Given the description of an element on the screen output the (x, y) to click on. 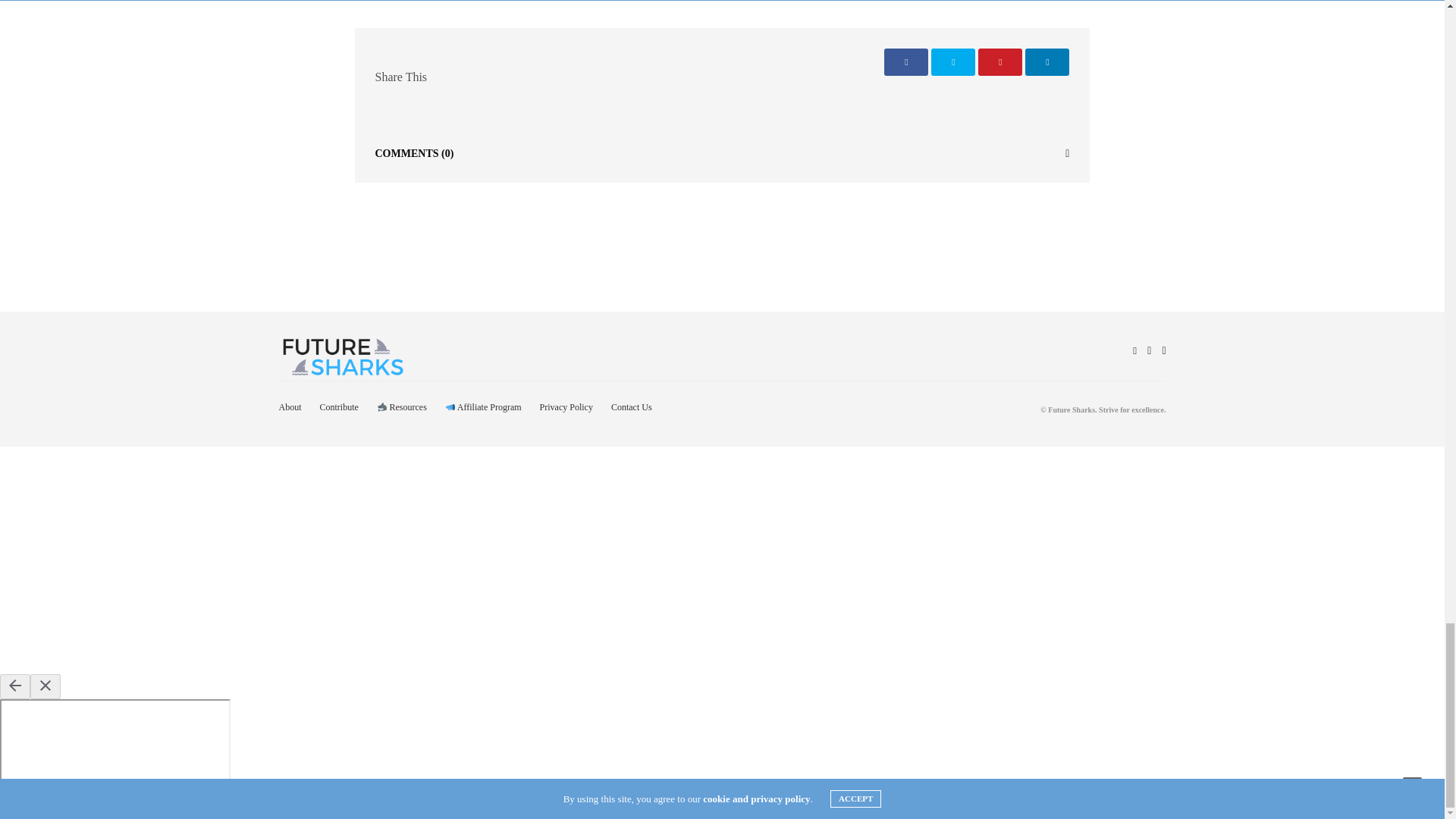
Affiliate Program (483, 407)
